Given the description of an element on the screen output the (x, y) to click on. 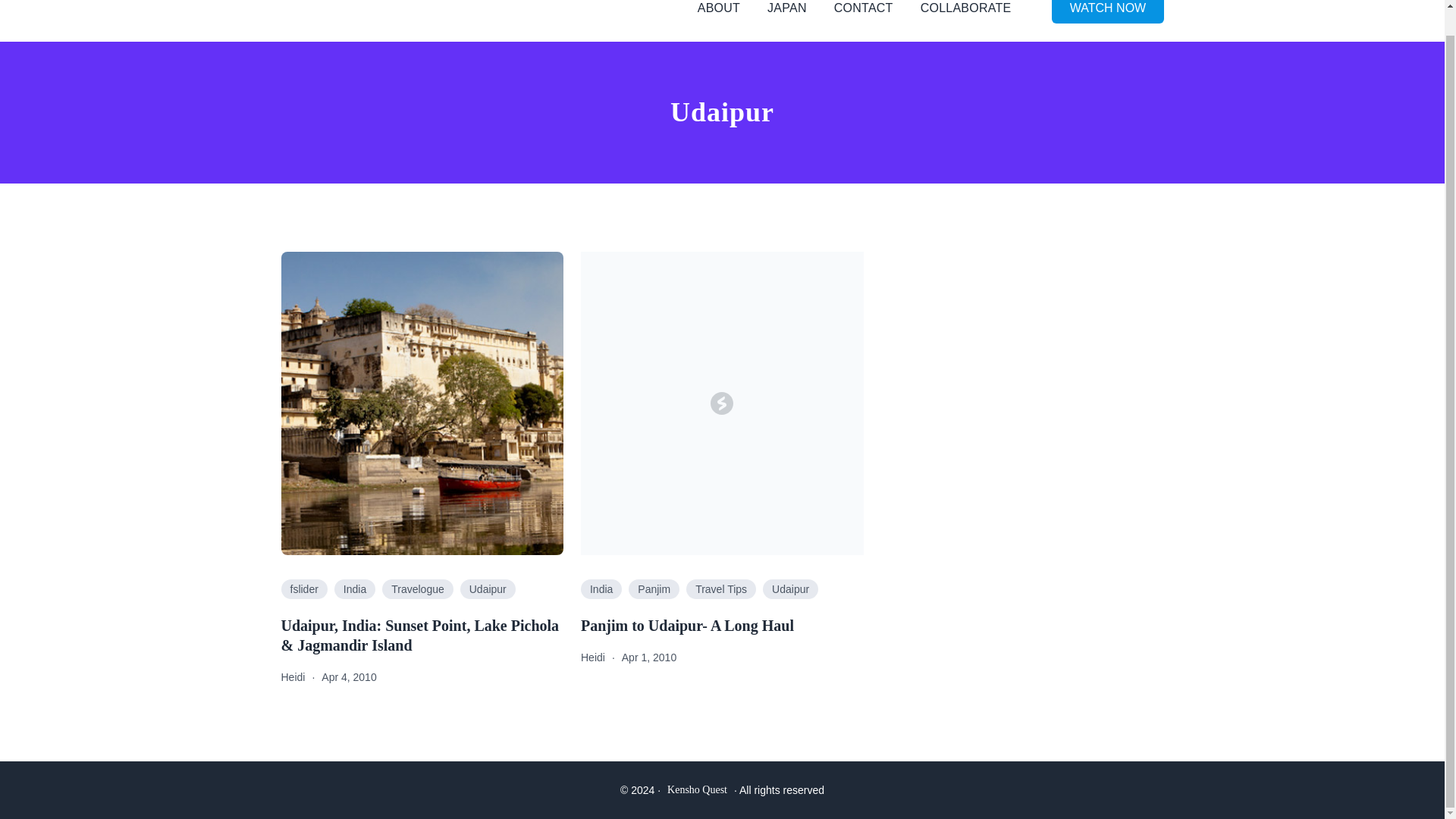
Panjim (653, 588)
Travelogue (416, 588)
JAPAN (786, 9)
kenshoquest-logo-225 (326, 12)
Udaipur (790, 588)
Udaipur (487, 588)
Kensho Quest (696, 789)
WATCH NOW (1107, 11)
fslider (303, 588)
ABOUT (718, 9)
